Given the description of an element on the screen output the (x, y) to click on. 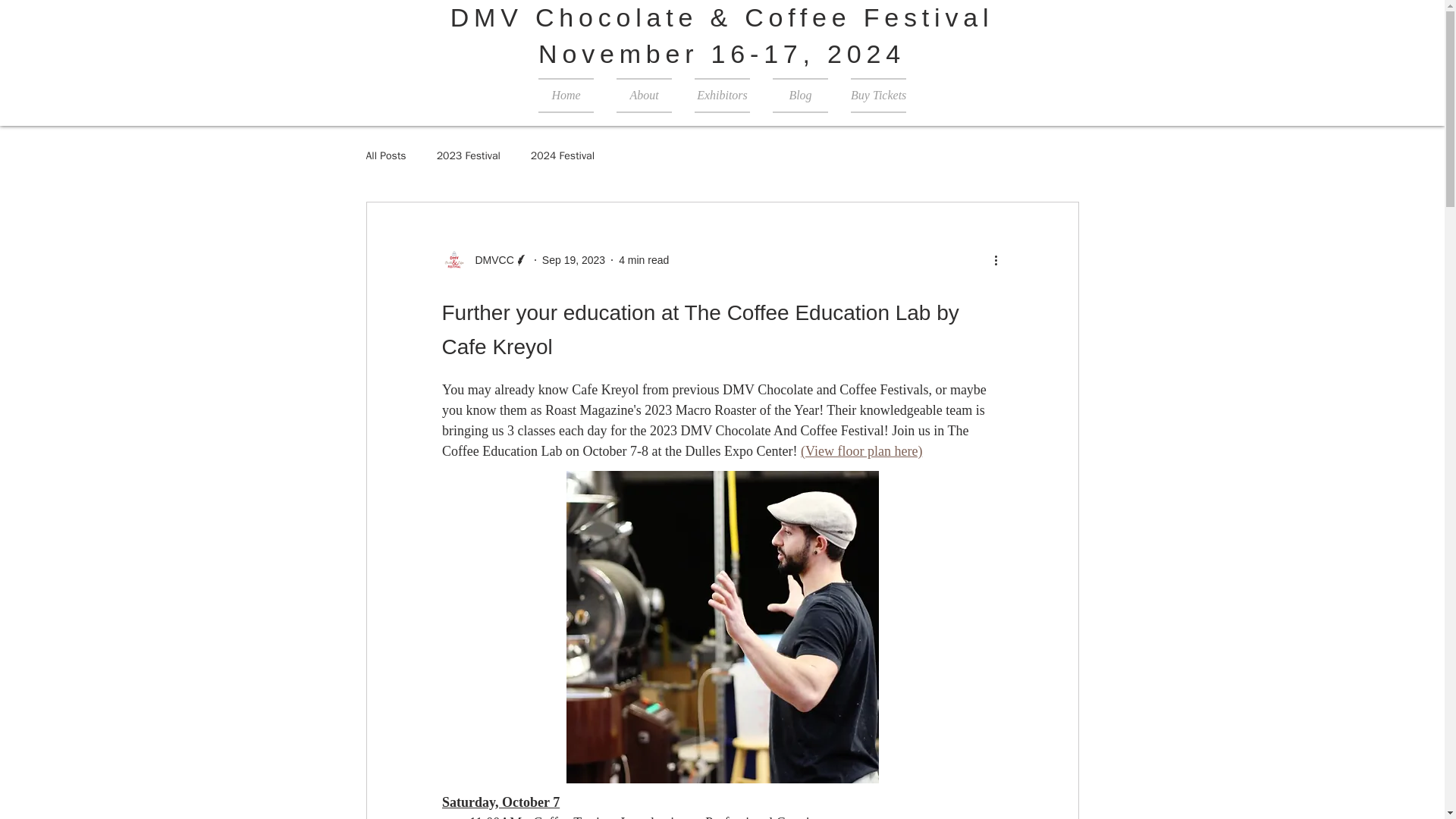
Blog (800, 95)
2024 Festival (562, 155)
Home (566, 95)
Exhibitors (721, 95)
All Posts (385, 155)
Buy Tickets (878, 95)
About (643, 95)
2023 Festival (468, 155)
Sep 19, 2023 (573, 259)
DMVCC (484, 259)
4 min read (643, 259)
DMVCC (489, 260)
